Given the description of an element on the screen output the (x, y) to click on. 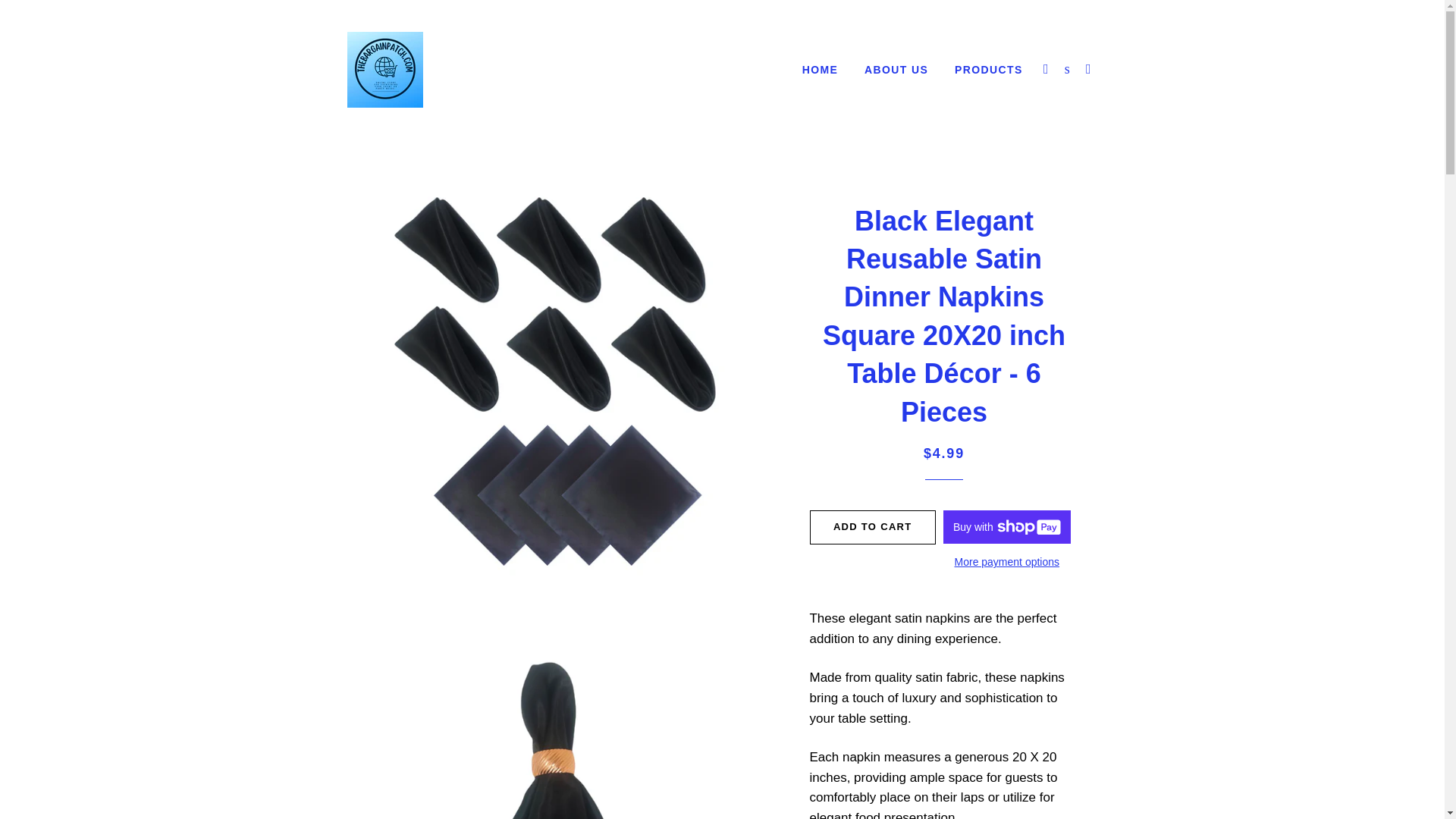
PRODUCTS (988, 70)
HOME (820, 70)
ABOUT US (896, 70)
More payment options (1007, 562)
ADD TO CART (872, 526)
